Given the description of an element on the screen output the (x, y) to click on. 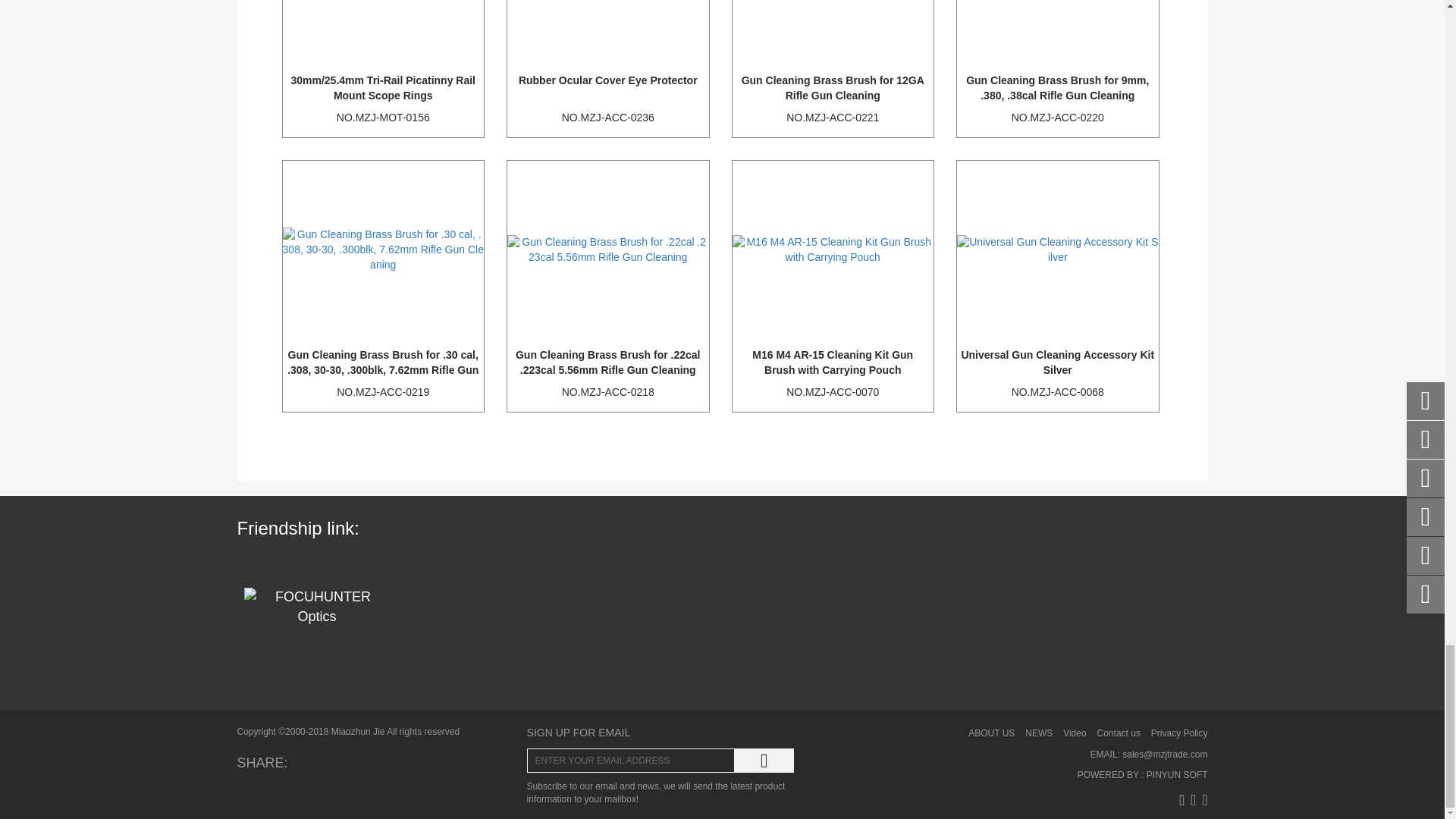
ENTER YOUR EMAIL ADDRESS (631, 760)
